Given the description of an element on the screen output the (x, y) to click on. 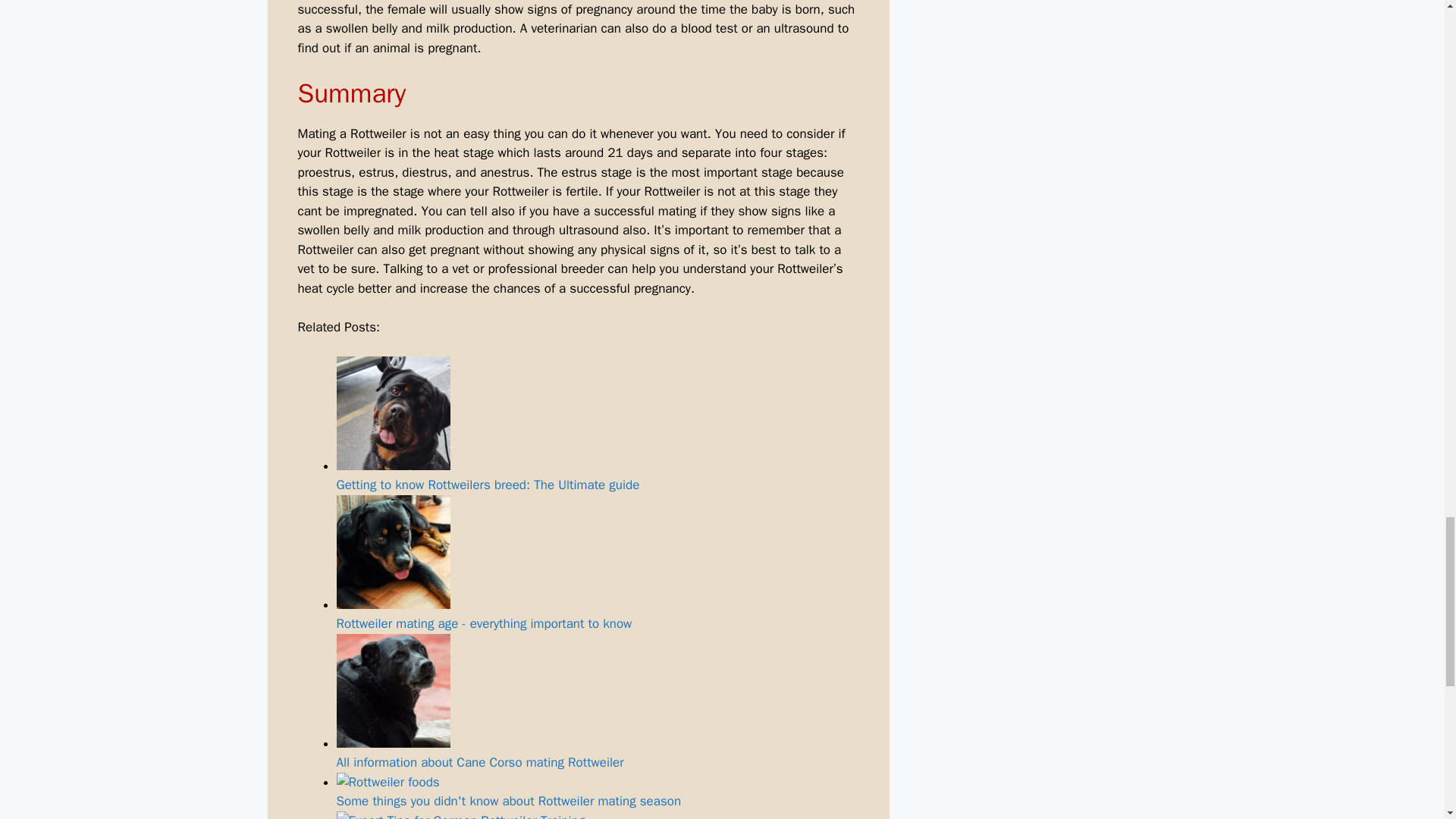
Some things you didn't know about Rottweiler mating season (387, 782)
All information about Cane Corso mating Rottweiler (392, 690)
All information about Cane Corso mating Rottweiler (597, 702)
Getting to know Rottweilers breed: The Ultimate guide (392, 413)
Rottweiler mating age - everything important to know (597, 563)
Rottweiler mating age - everything important to know (392, 552)
Some things you didn't know about Rottweiler mating season (597, 791)
Getting to know Rottweilers breed: The Ultimate guide (597, 424)
